Given the description of an element on the screen output the (x, y) to click on. 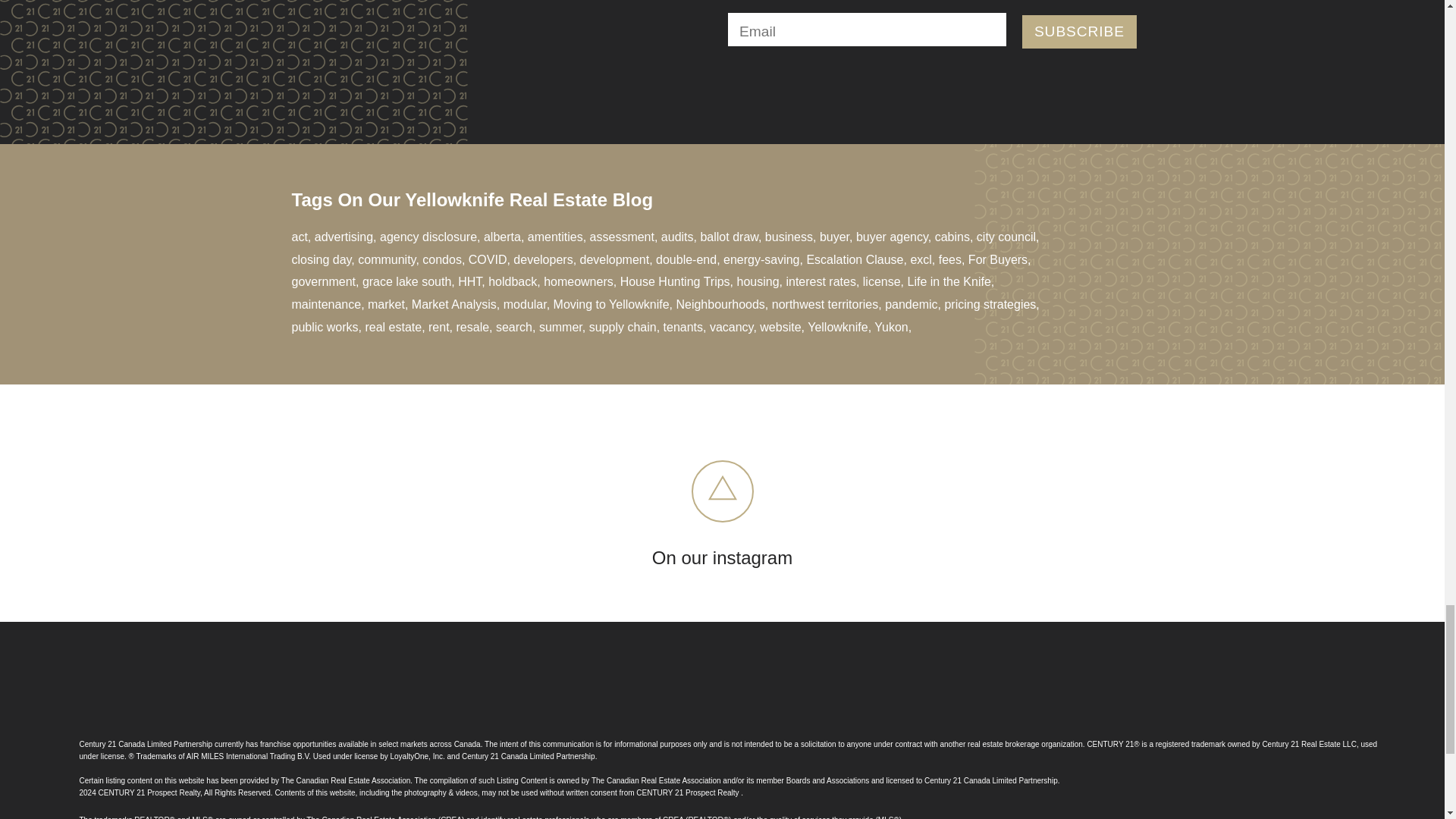
Subscribe (1079, 31)
